Given the description of an element on the screen output the (x, y) to click on. 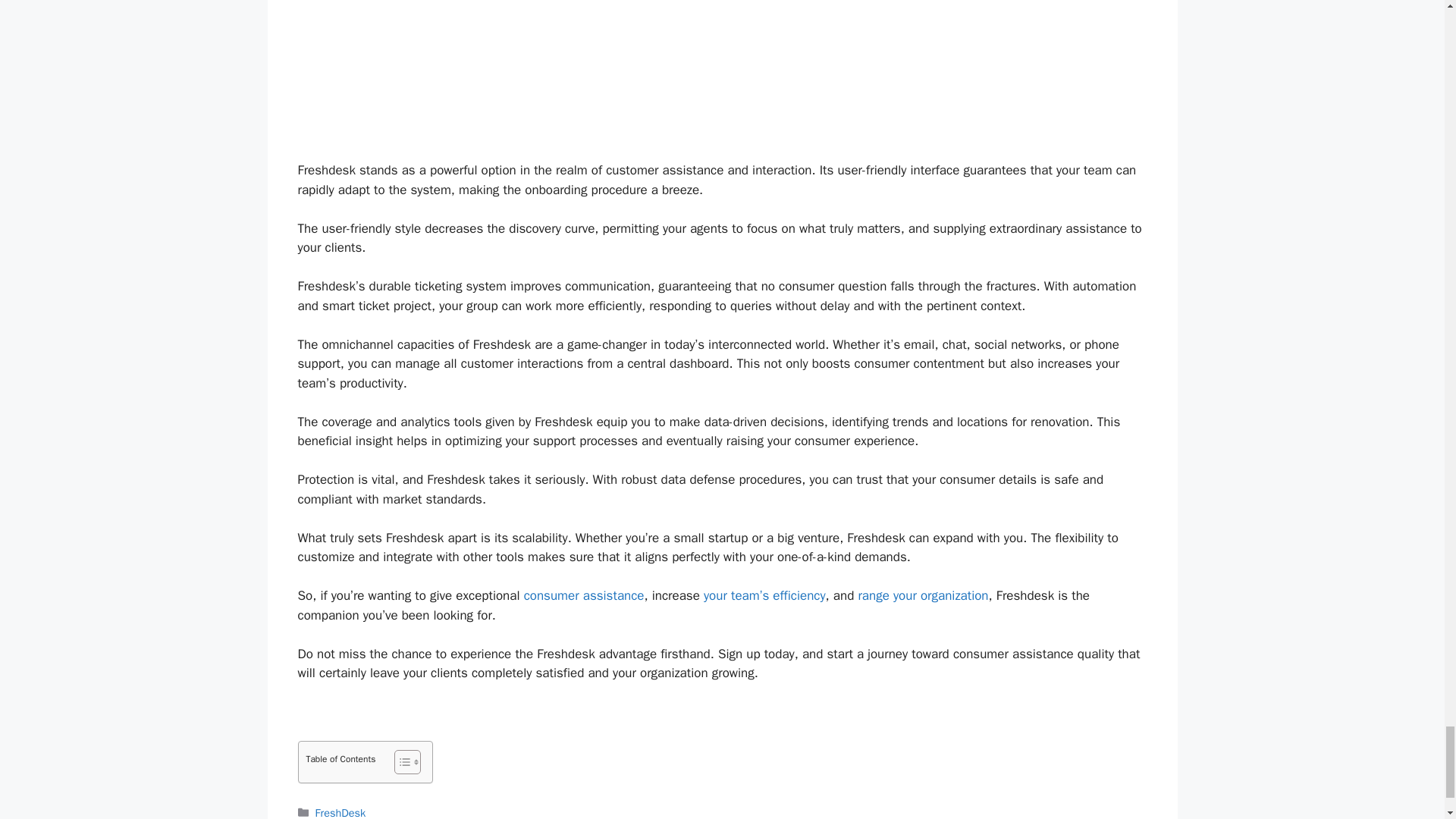
FreshDesk (340, 812)
consumer assistance (584, 595)
range your organization (922, 595)
